Given the description of an element on the screen output the (x, y) to click on. 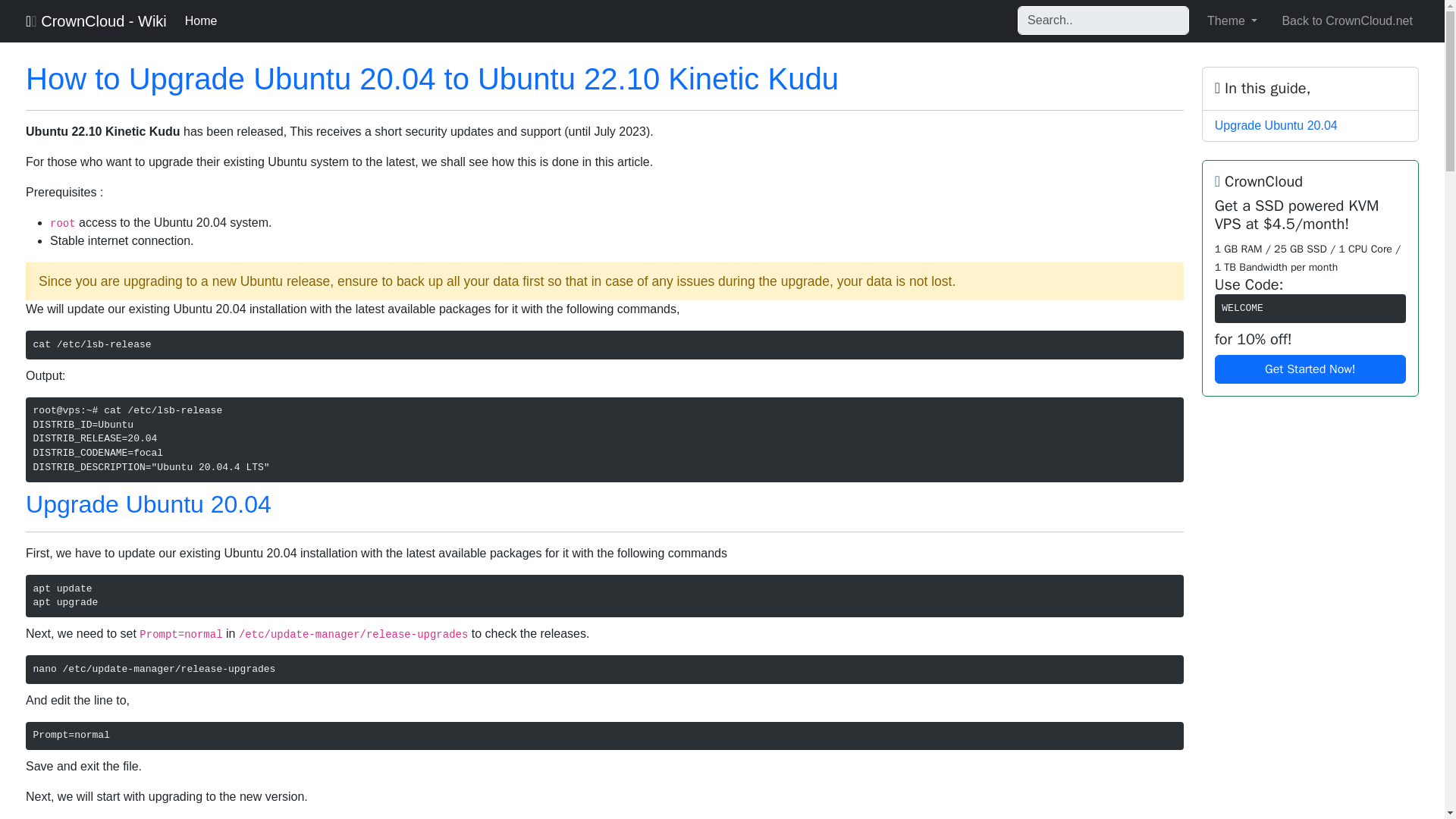
Get Started Now! (1310, 369)
Upgrade Ubuntu 20.04 (1276, 124)
Back to CrownCloud.net (1346, 20)
How to Upgrade Ubuntu 20.04 to Ubuntu 22.10 Kinetic Kudu (432, 78)
CrownCloud - Wiki (96, 20)
Theme (1232, 20)
Upgrade Ubuntu 20.04 (148, 503)
